Given the description of an element on the screen output the (x, y) to click on. 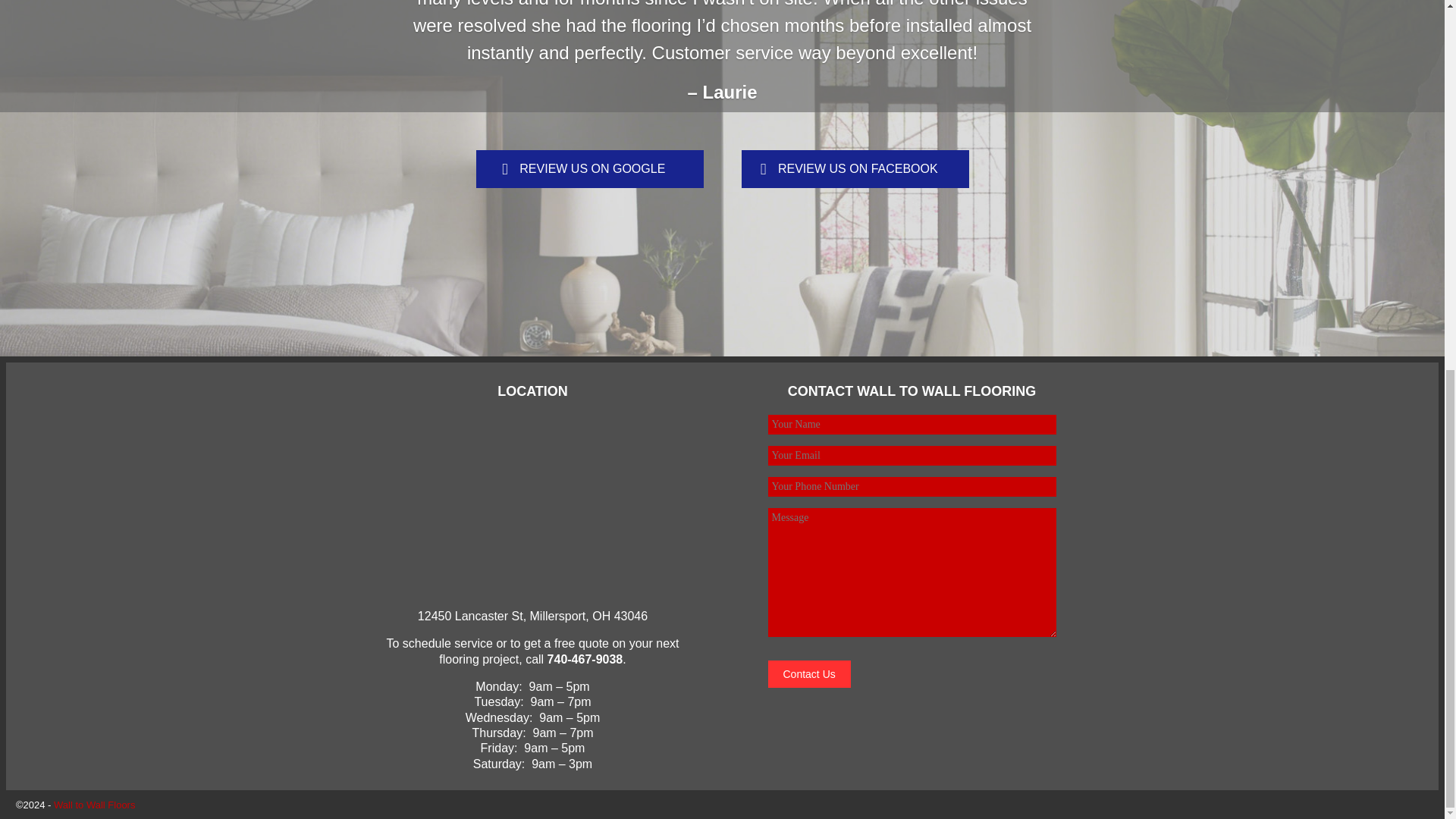
Wall to Wall Floors (94, 804)
